Given the description of an element on the screen output the (x, y) to click on. 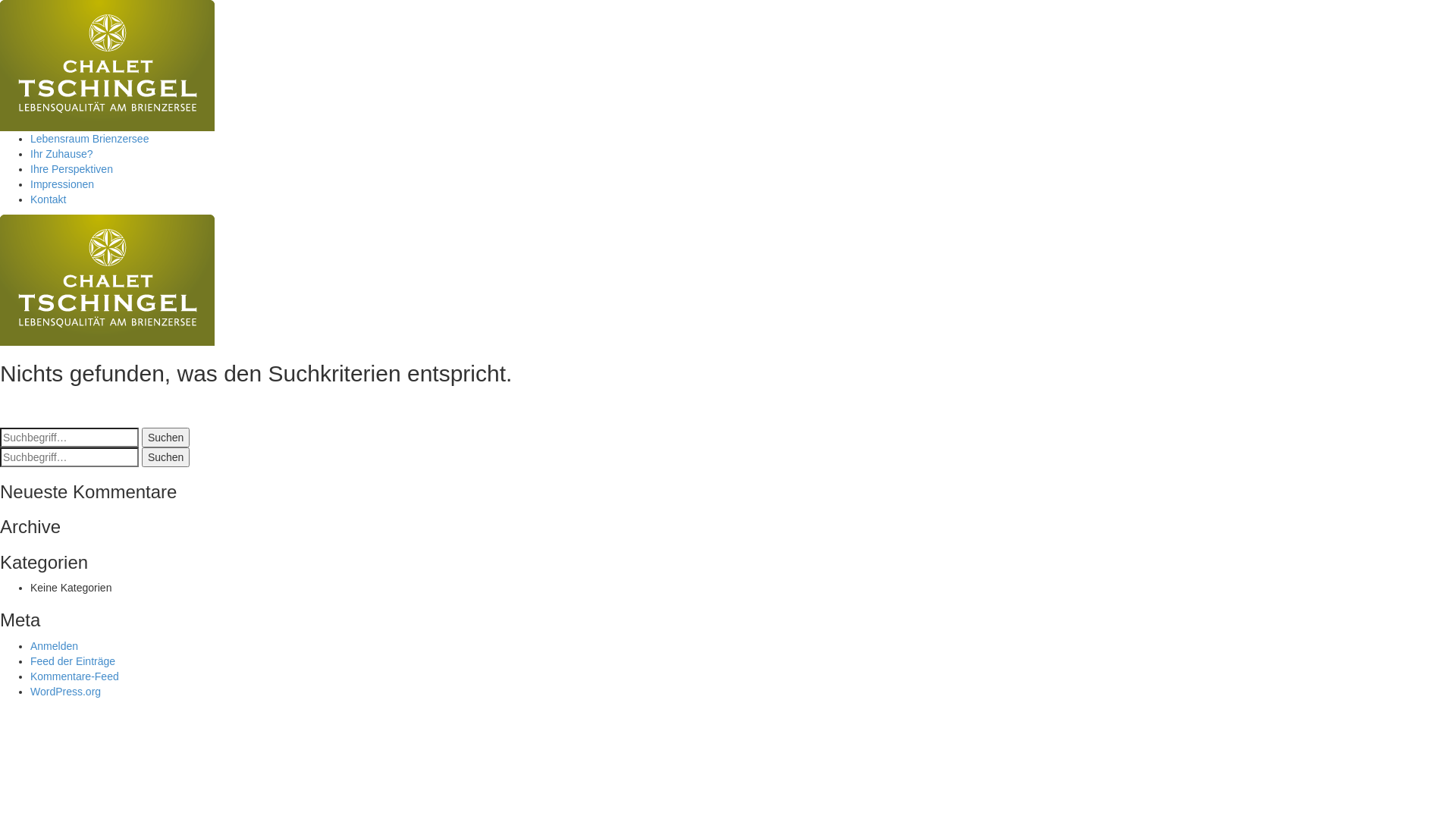
Ihr Zuhause? Element type: text (61, 153)
Kommentare-Feed Element type: text (74, 676)
Suchen Element type: text (165, 437)
Lebensraum Brienzersee Element type: text (89, 138)
Impressionen Element type: text (62, 184)
Anmelden Element type: text (54, 646)
Ihre Perspektiven Element type: text (71, 169)
Suchen Element type: text (165, 457)
WordPress.org Element type: text (65, 691)
Kontakt Element type: text (47, 199)
